Given the description of an element on the screen output the (x, y) to click on. 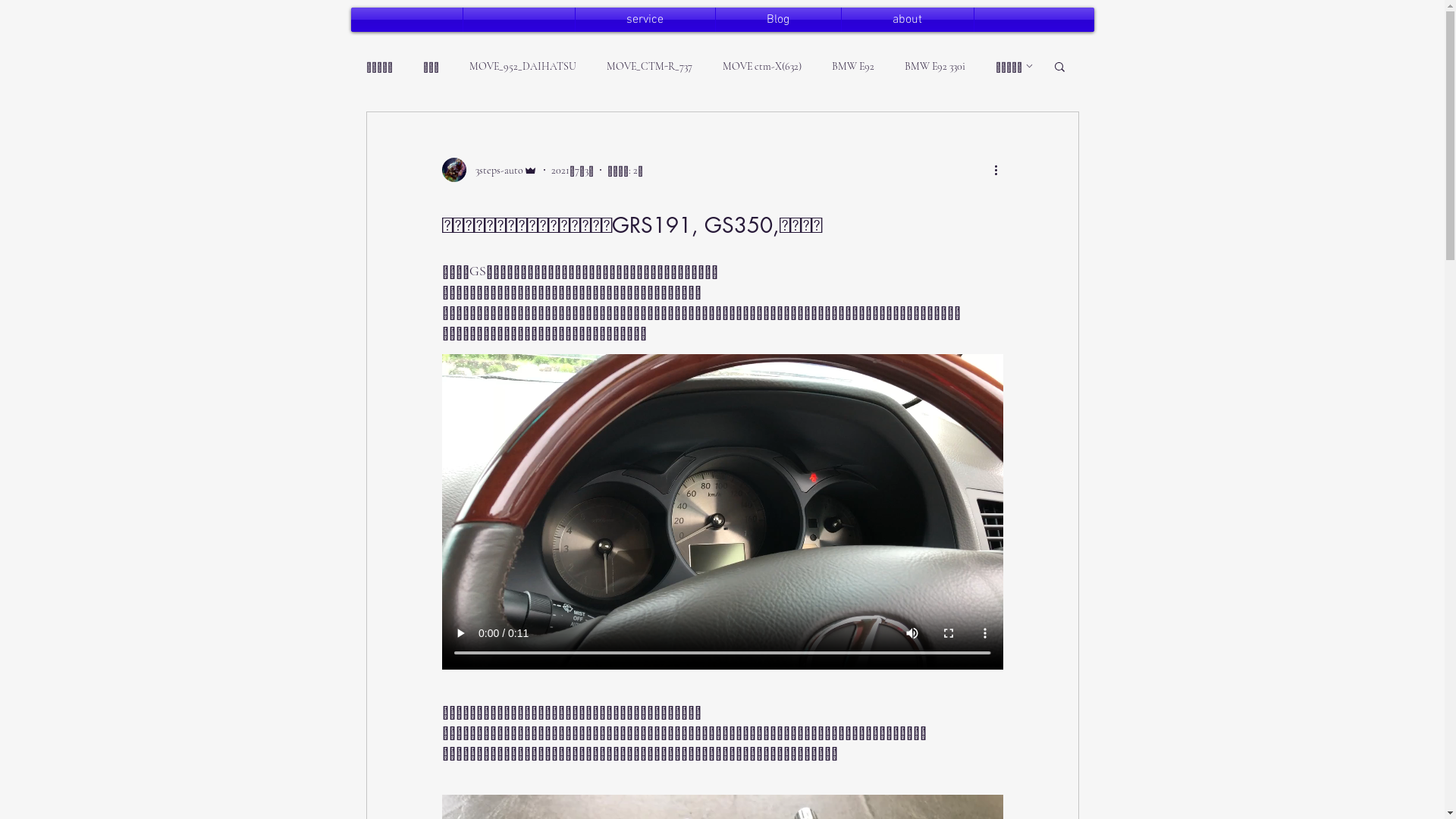
service Element type: text (644, 19)
Blog Element type: text (777, 19)
3steps-auto Element type: text (488, 169)
about Element type: text (907, 19)
